Given the description of an element on the screen output the (x, y) to click on. 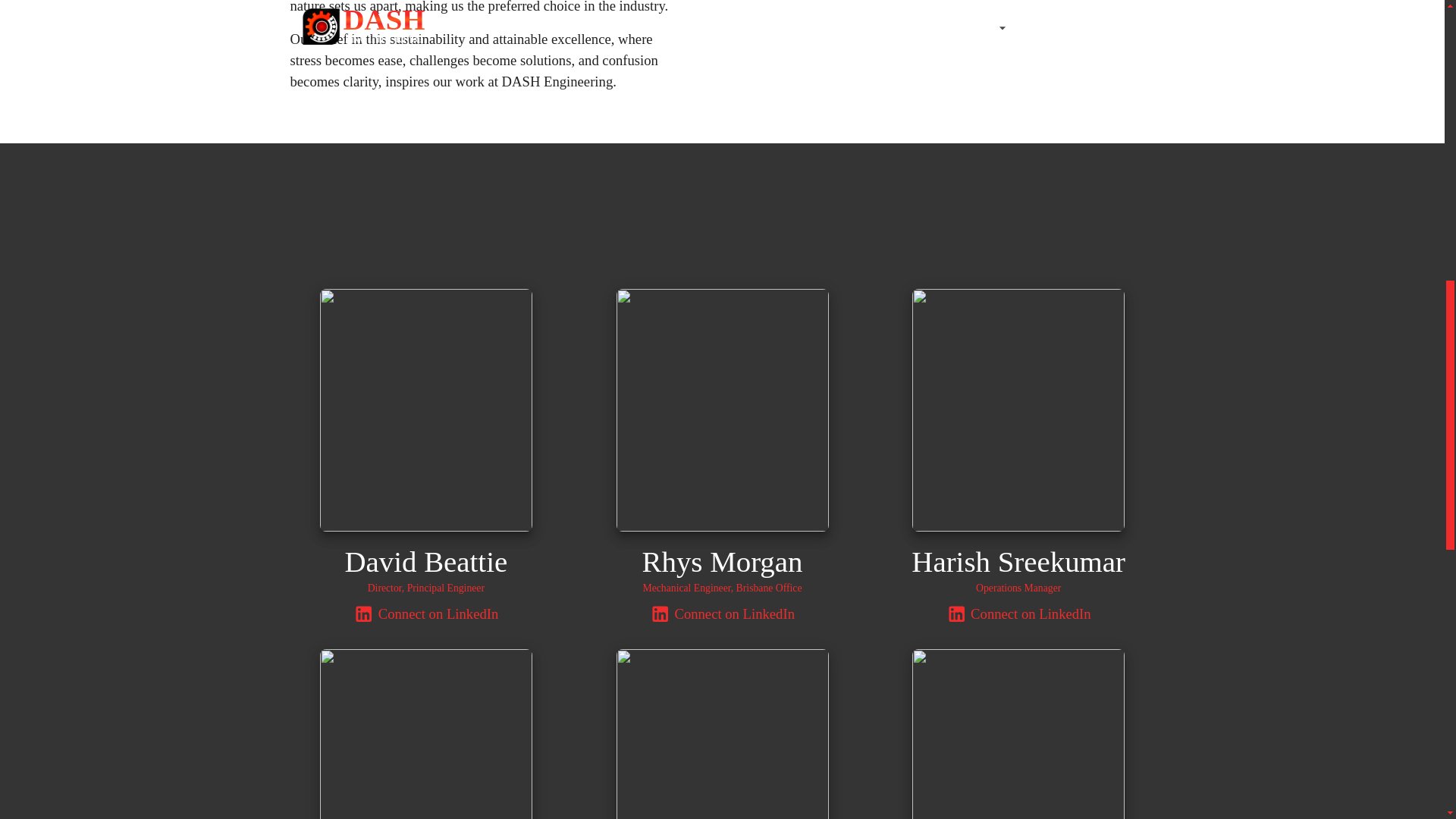
Connect on Linkedin (1018, 613)
Connect on LinkedIn (425, 613)
Connect on LinkedIn (1018, 613)
Connect on Linkedin (425, 613)
Connect on Linkedin (721, 613)
Connect on LinkedIn (721, 613)
